Given the description of an element on the screen output the (x, y) to click on. 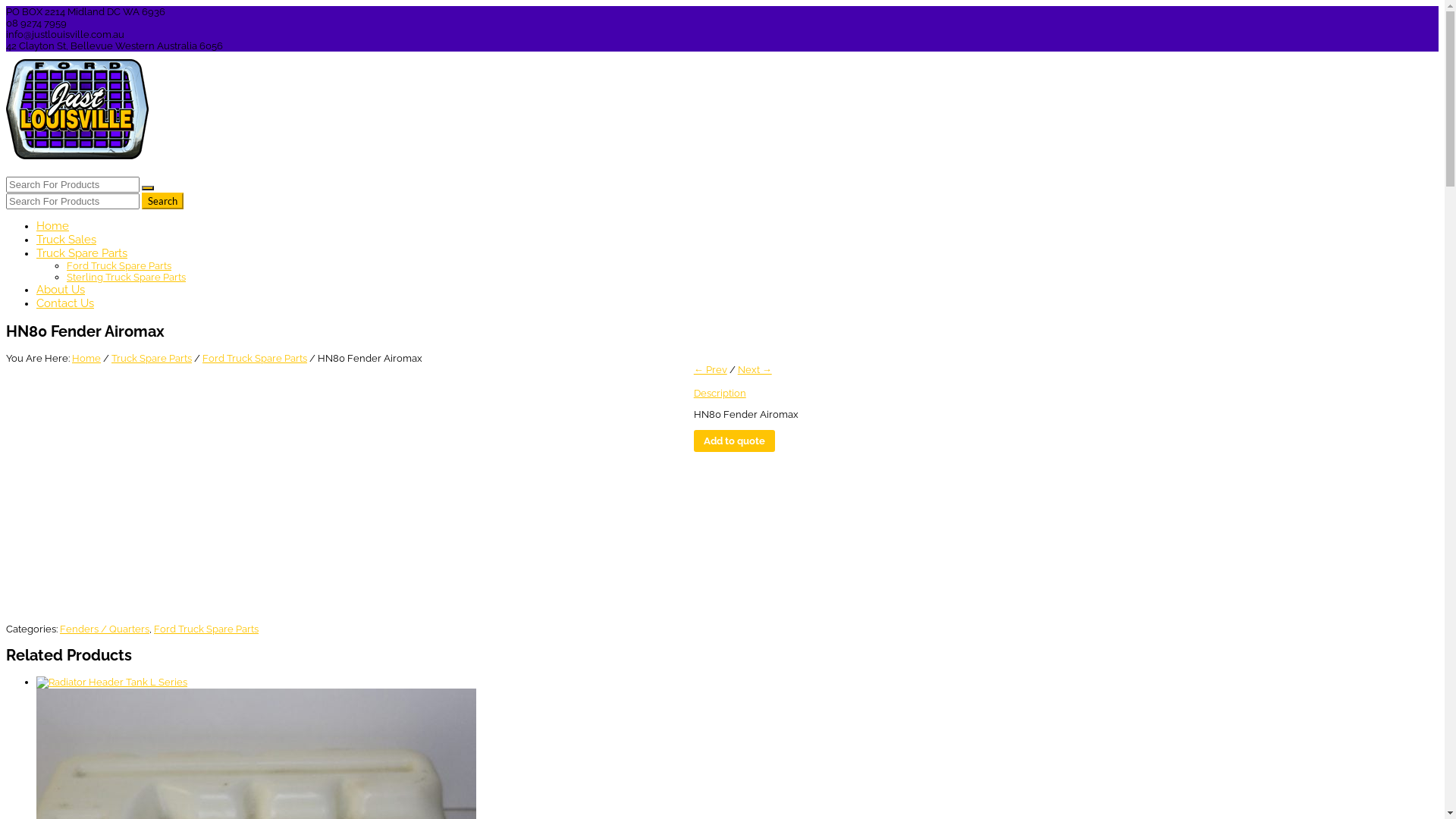
Sterling Truck Spare Parts Element type: text (125, 276)
Search Element type: text (162, 200)
Add to quote Element type: text (734, 440)
Truck Spare Parts Element type: text (151, 358)
About Us Element type: text (60, 289)
Fenders / Quarters Element type: text (104, 628)
Ford Truck Spare Parts Element type: text (205, 628)
Home Element type: text (86, 358)
Description Element type: text (719, 392)
Ford Truck Spare Parts Element type: text (254, 358)
Truck Sales Element type: text (66, 239)
Contact Us Element type: text (65, 303)
Home Element type: text (52, 225)
Ford Truck Spare Parts Element type: text (118, 265)
Truck Spare Parts Element type: text (81, 253)
